Given the description of an element on the screen output the (x, y) to click on. 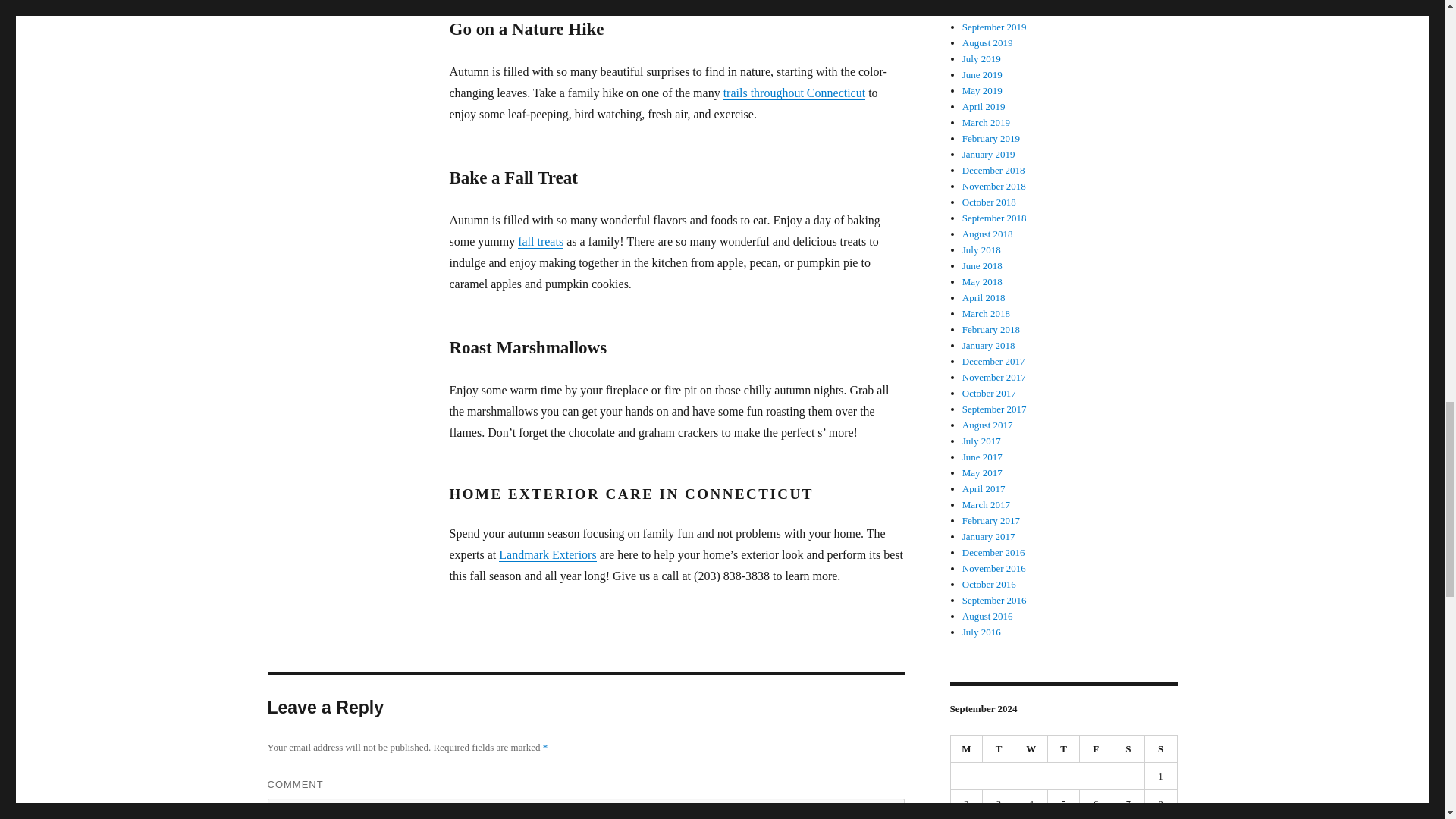
Sunday (1160, 748)
Saturday (1128, 748)
Landmark Exteriors (547, 554)
Friday (1096, 748)
Wednesday (1031, 748)
trails throughout Connecticut (794, 92)
fall treats (540, 241)
Thursday (1064, 748)
Tuesday (998, 748)
Monday (967, 748)
